Given the description of an element on the screen output the (x, y) to click on. 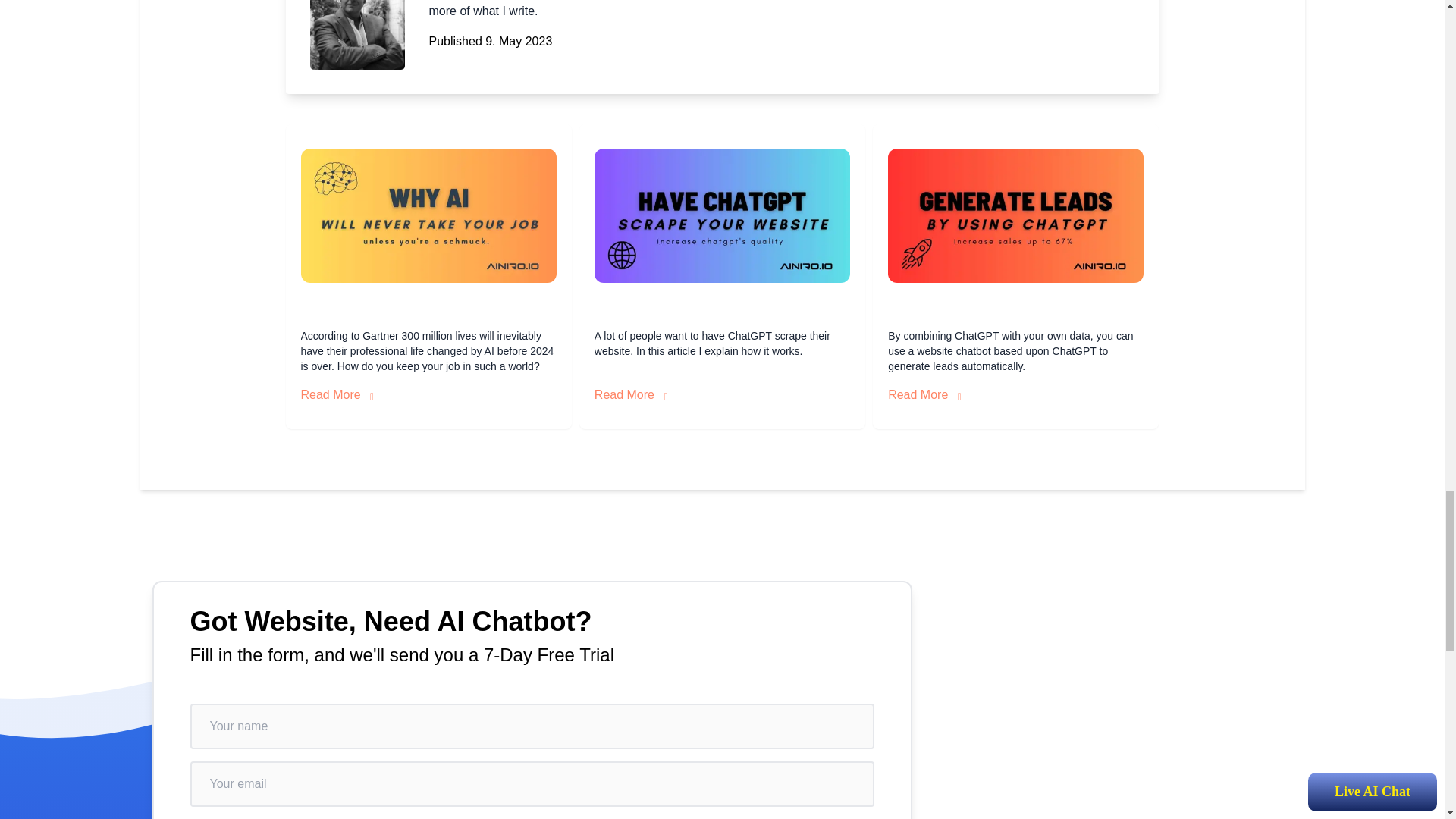
Read More (631, 394)
Read More (924, 394)
Use ChatGPT to Generate Leads (1015, 215)
Read More (336, 394)
Why AI will never take your job (427, 215)
Have ChatGPT Scrape your Website (722, 215)
